Given the description of an element on the screen output the (x, y) to click on. 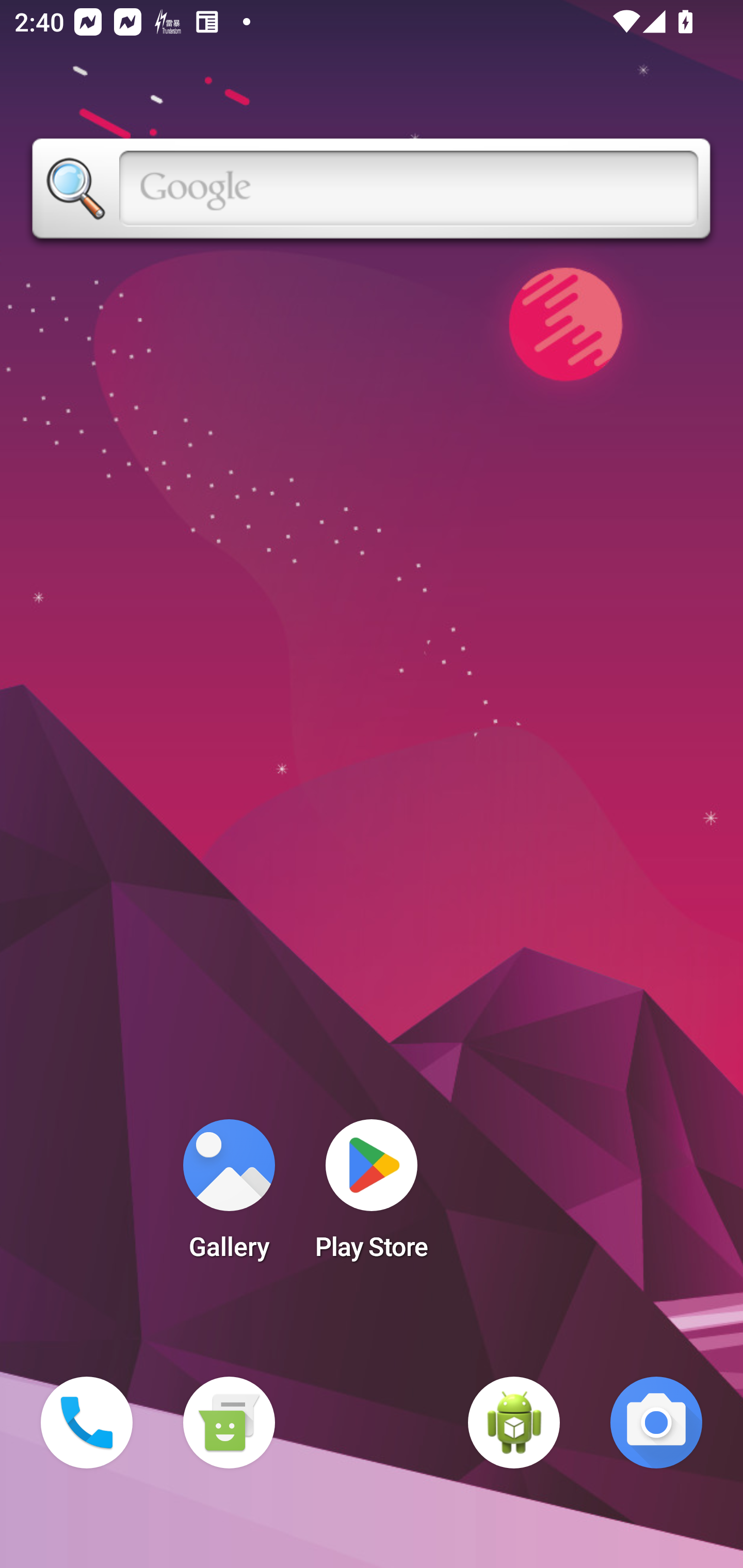
Gallery (228, 1195)
Play Store (371, 1195)
Phone (86, 1422)
Messaging (228, 1422)
WebView Browser Tester (513, 1422)
Camera (656, 1422)
